Given the description of an element on the screen output the (x, y) to click on. 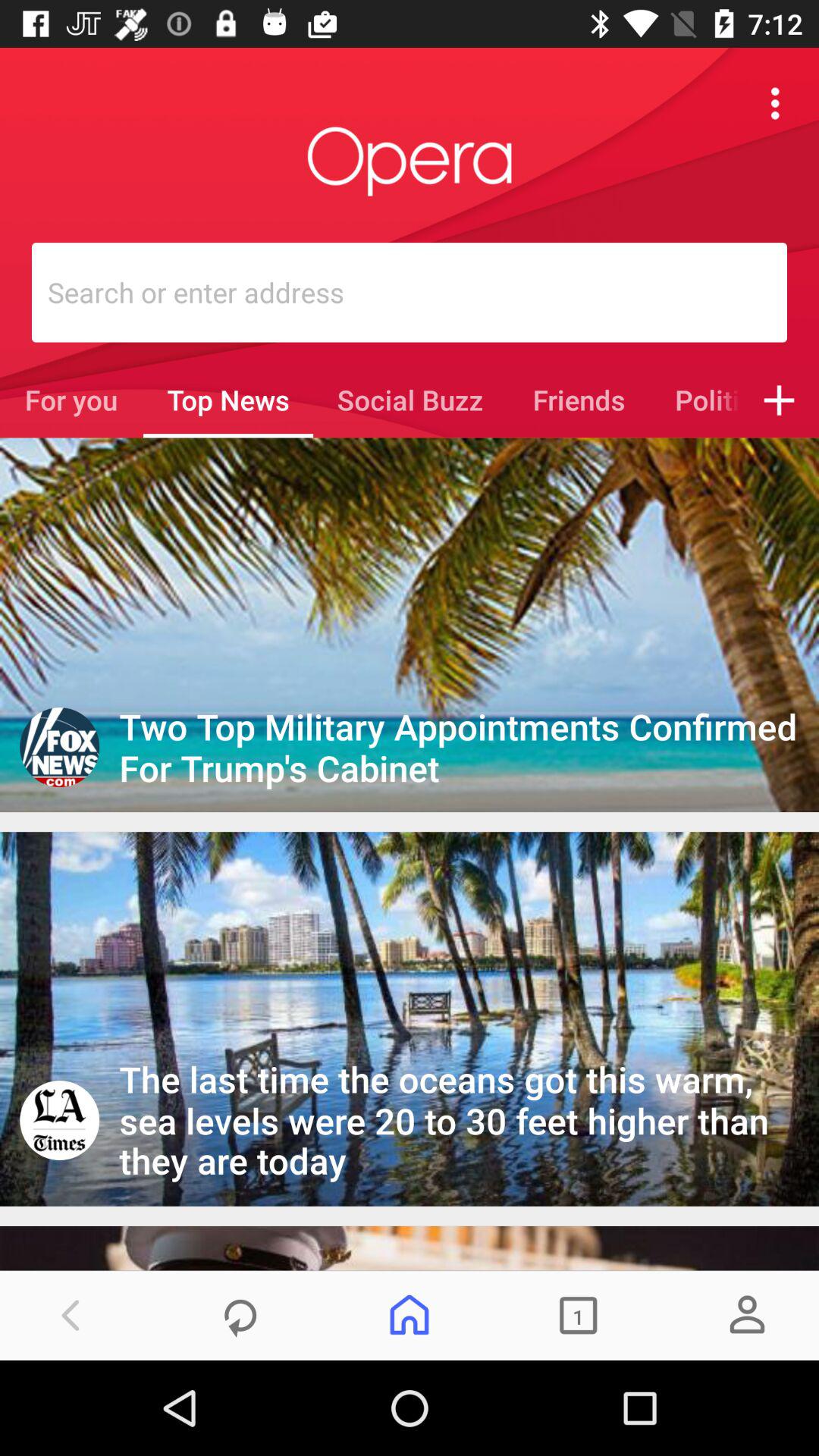
select icon next to the politics icon (779, 399)
